Given the description of an element on the screen output the (x, y) to click on. 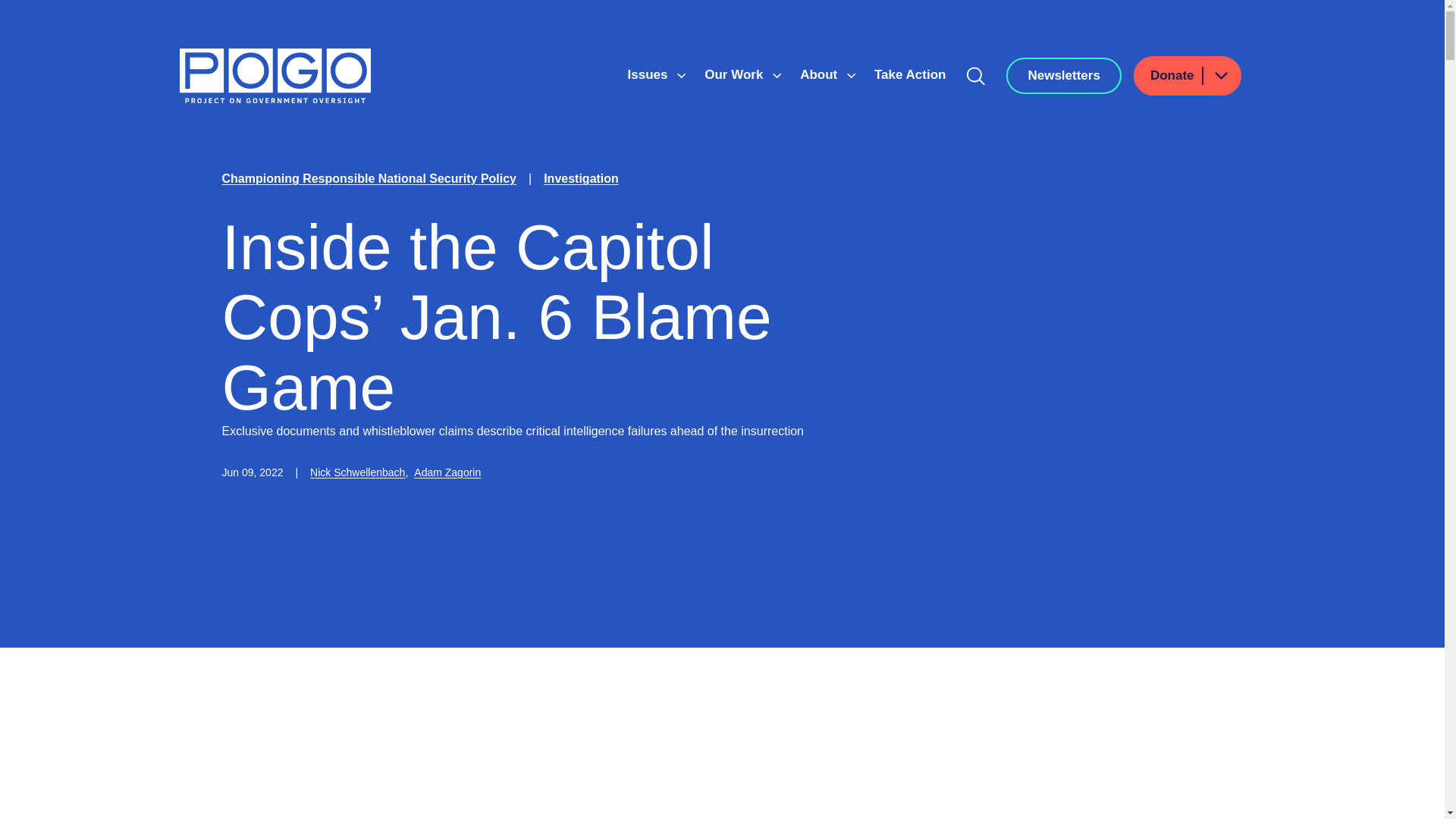
Show submenu for About (851, 75)
Take Action (909, 74)
Show submenu for Our Work (777, 75)
Newsletters (1063, 75)
Donate (1187, 75)
Show submenu for Donate (1220, 75)
Show submenu for Issues (681, 75)
Search (976, 75)
Issues (649, 74)
About (820, 74)
Our Work (735, 74)
Home (274, 75)
